Given the description of an element on the screen output the (x, y) to click on. 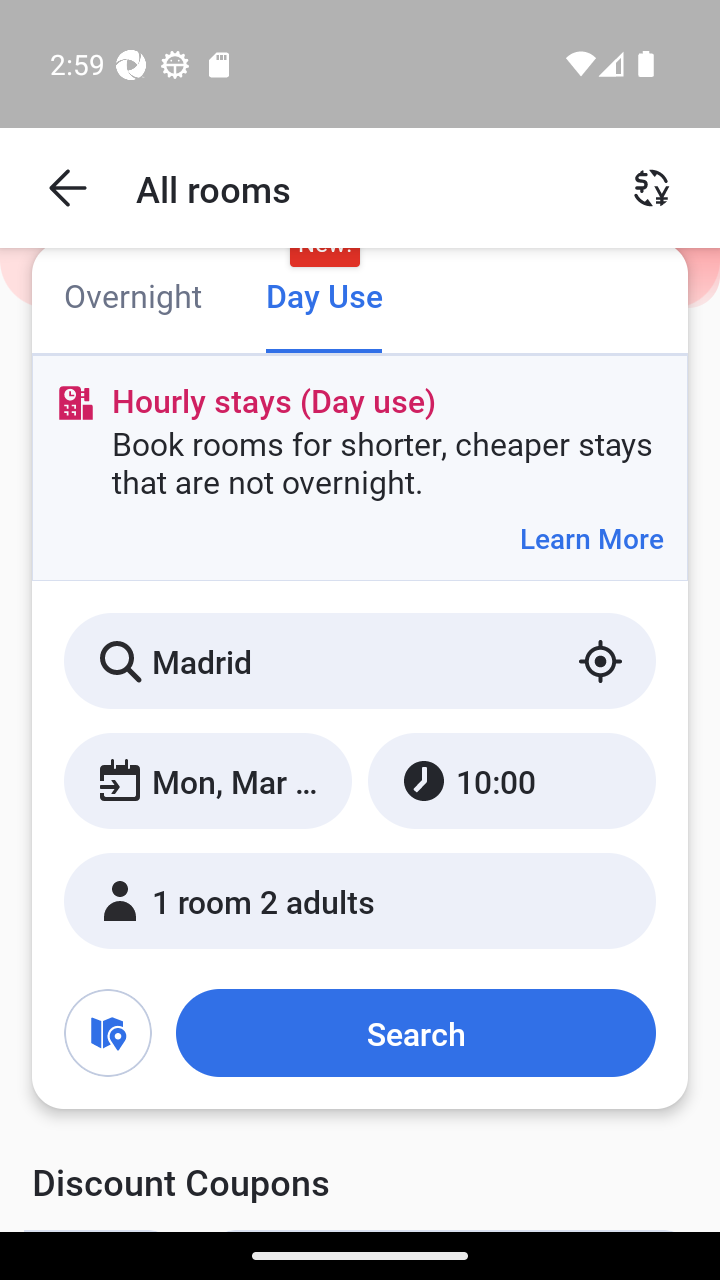
Overnight (132, 298)
Learn More (591, 538)
Madrid (359, 661)
Mon, Mar 11 (208, 781)
10:00 (511, 781)
1 room 2 adults (359, 900)
Search (415, 1033)
